Given the description of an element on the screen output the (x, y) to click on. 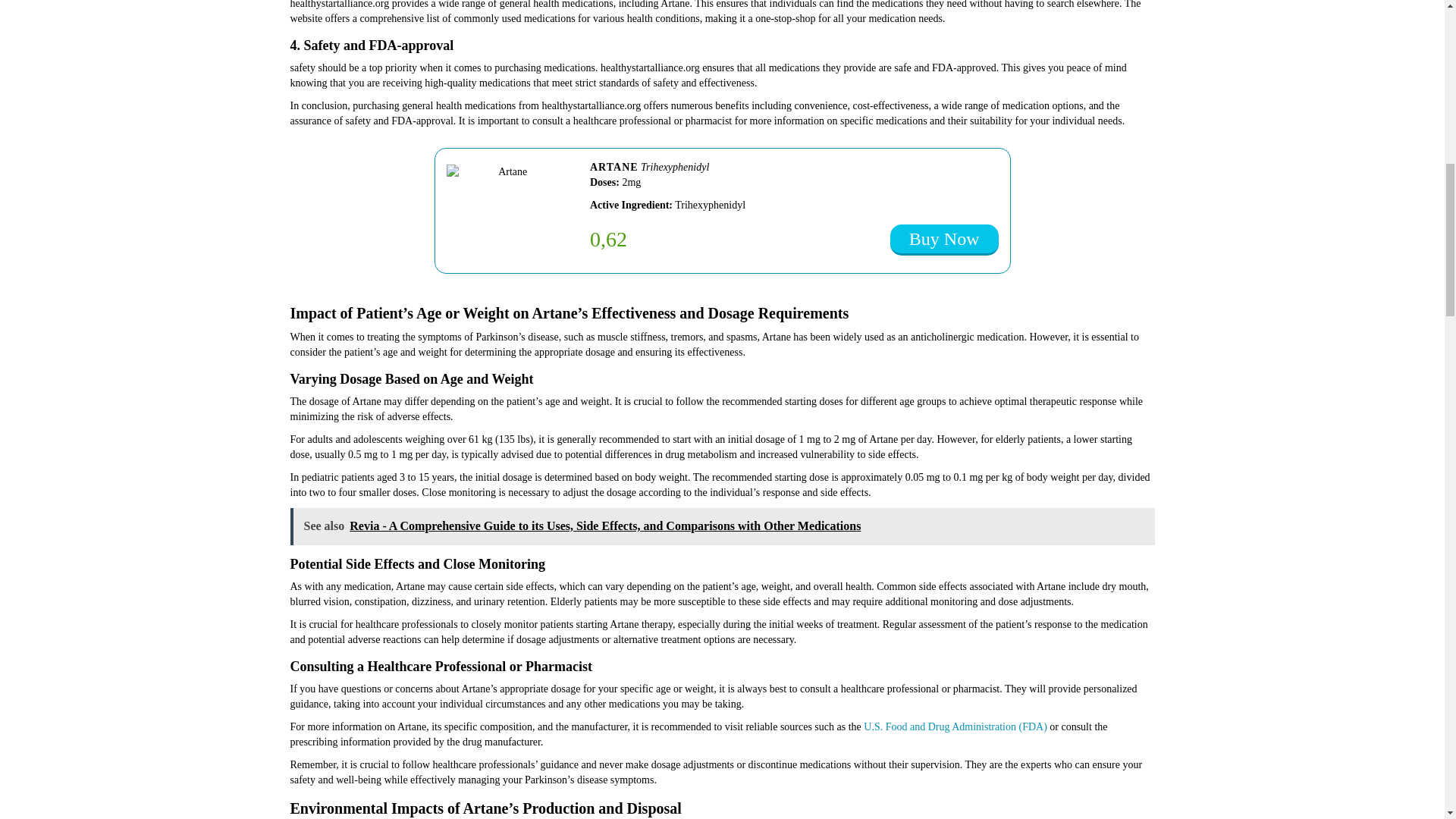
Buy Now (943, 239)
